Given the description of an element on the screen output the (x, y) to click on. 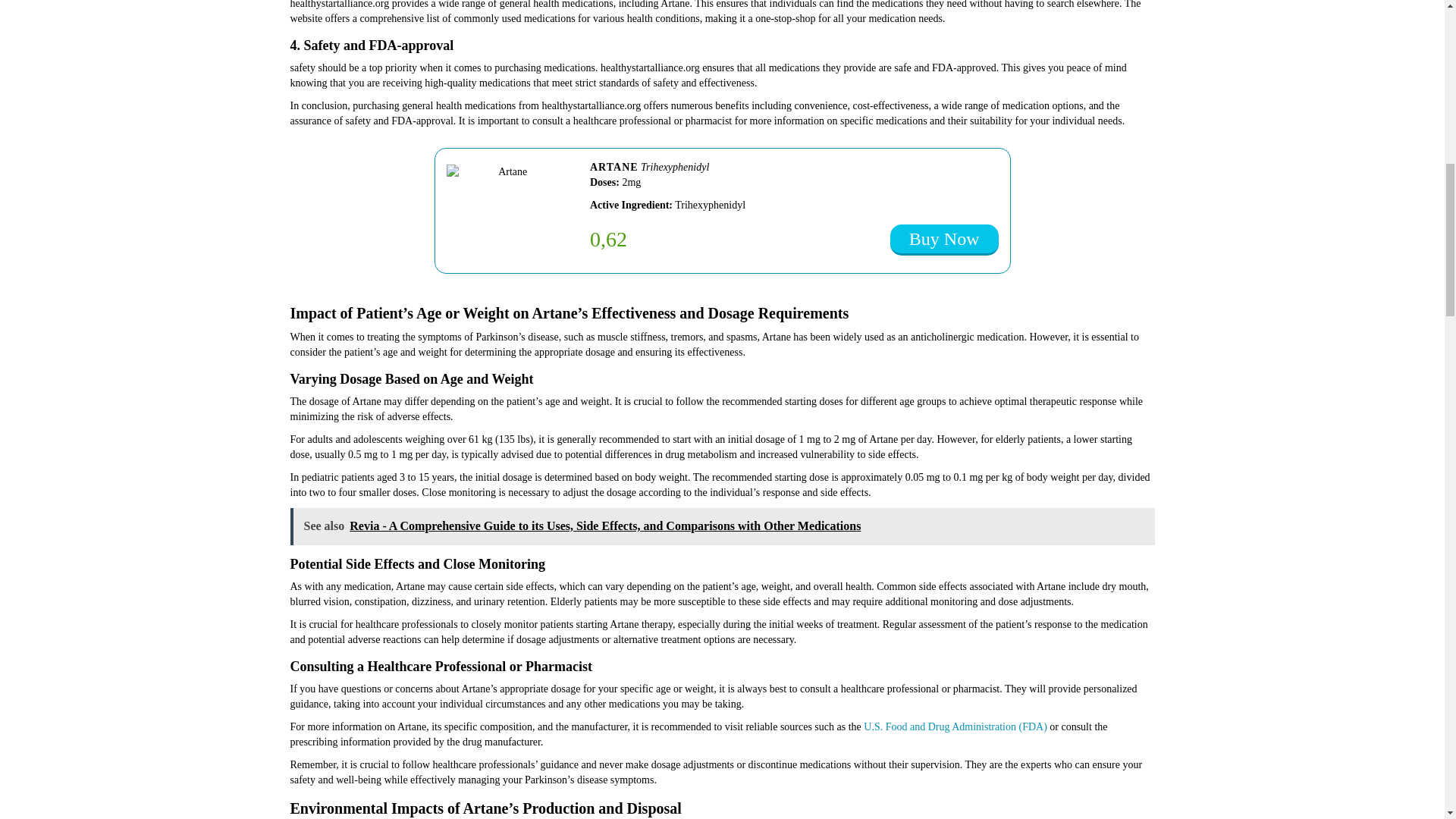
Buy Now (943, 239)
